Given the description of an element on the screen output the (x, y) to click on. 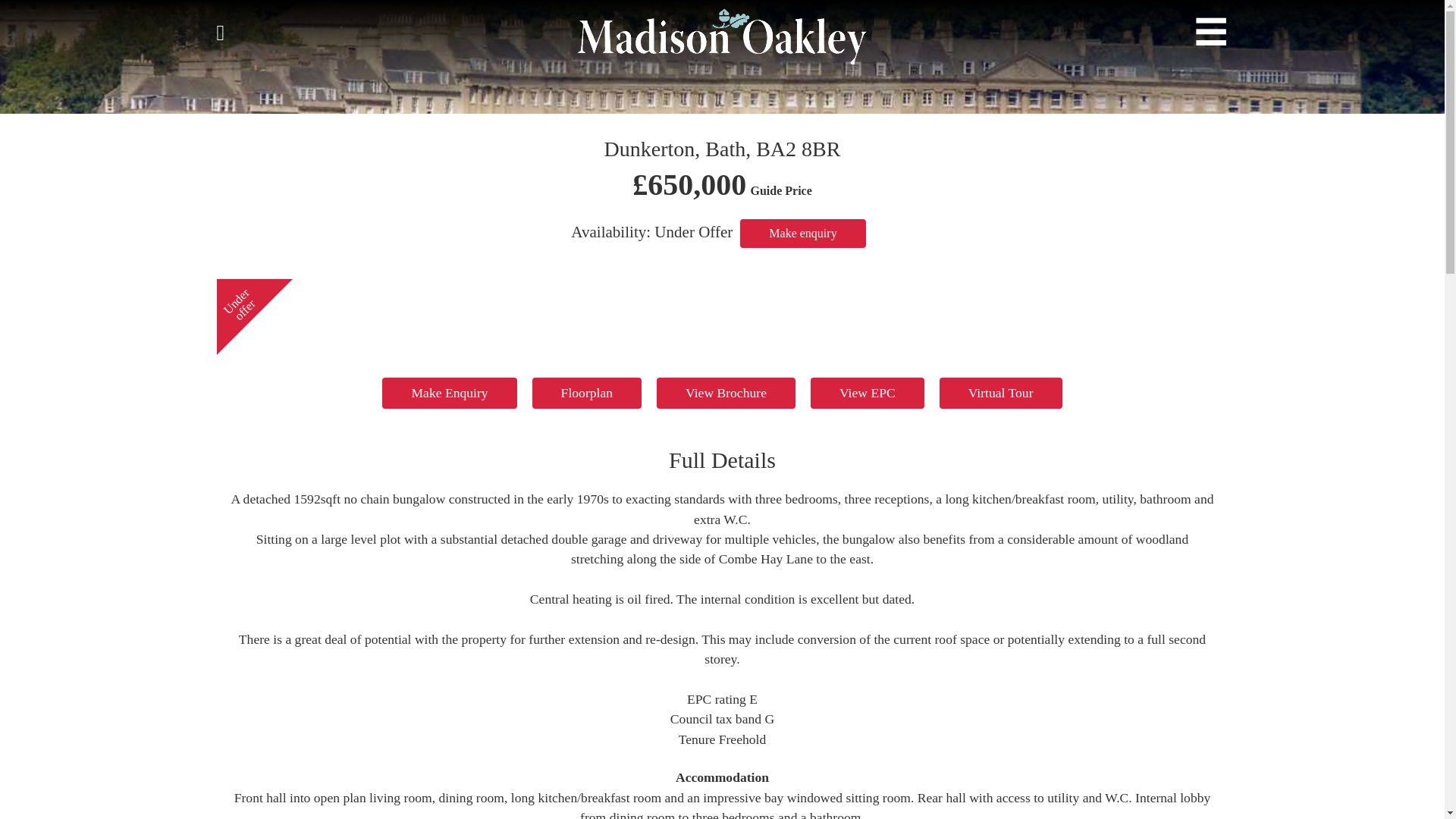
Virtual Tour (1000, 392)
View Brochure (725, 392)
View EPC (867, 392)
Floorplan (587, 392)
Make Enquiry (448, 392)
Make enquiry (801, 233)
